Given the description of an element on the screen output the (x, y) to click on. 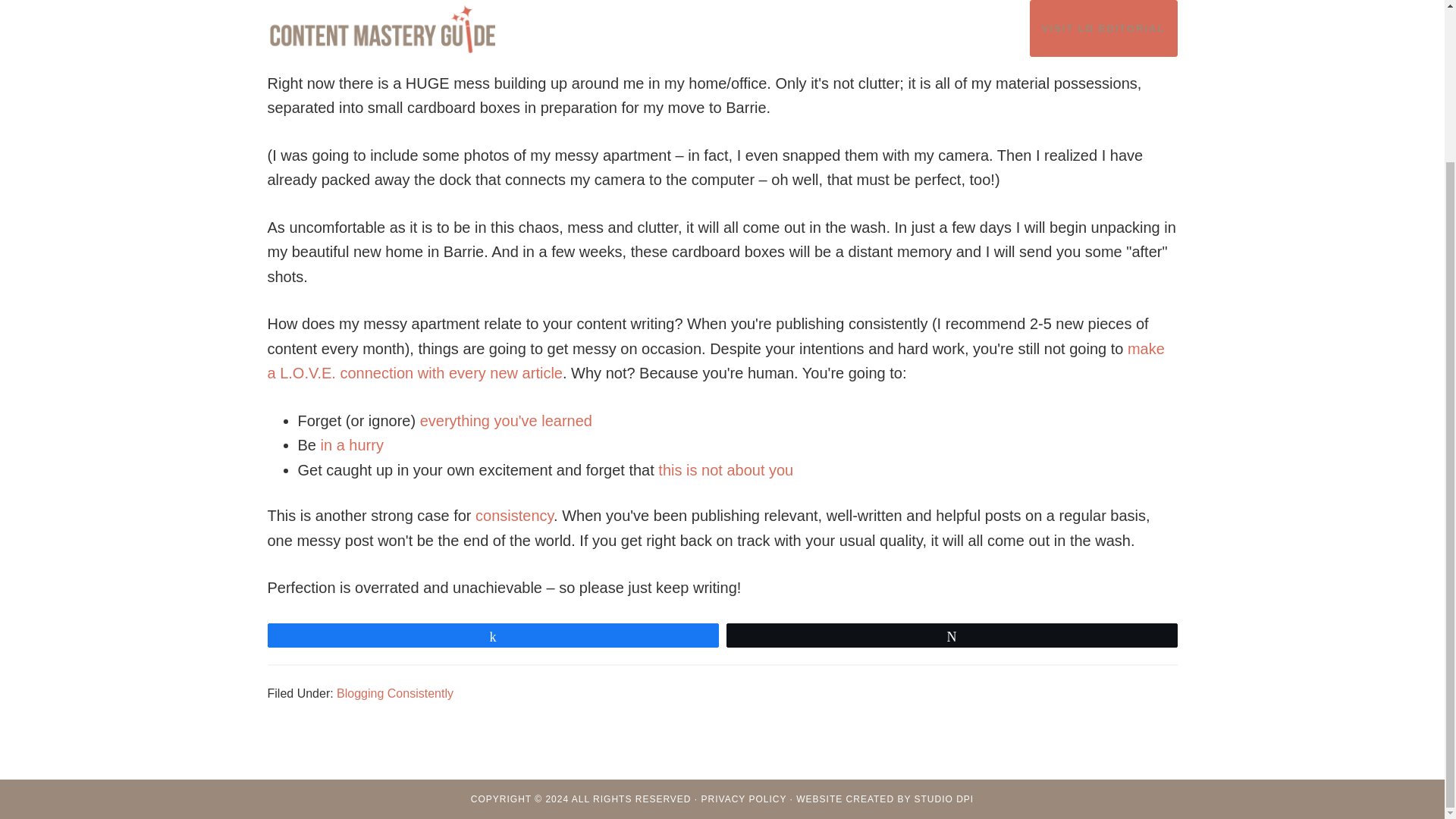
STUDIO dpi (944, 798)
this is not about you (725, 469)
Blogging Consistently (394, 693)
make a L.O.V.E. connection with every new article (714, 361)
PRIVACY POLICY (744, 798)
Linda Dessau (434, 0)
the first article I ever wrote (621, 35)
consistency (514, 515)
in a hurry (352, 444)
Privacy Policy (744, 798)
STUDIO DPI (944, 798)
everything you've learned (506, 420)
